Given the description of an element on the screen output the (x, y) to click on. 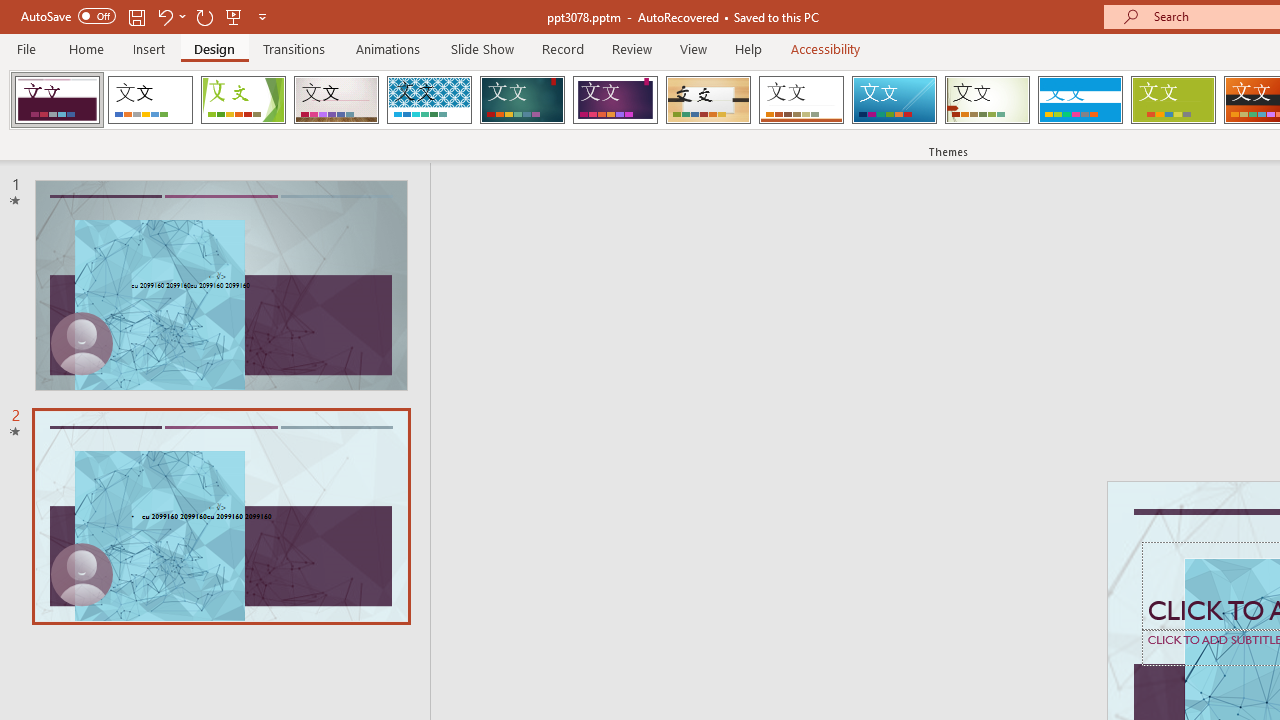
Organic (708, 100)
Retrospect (801, 100)
Integral (429, 100)
